Given the description of an element on the screen output the (x, y) to click on. 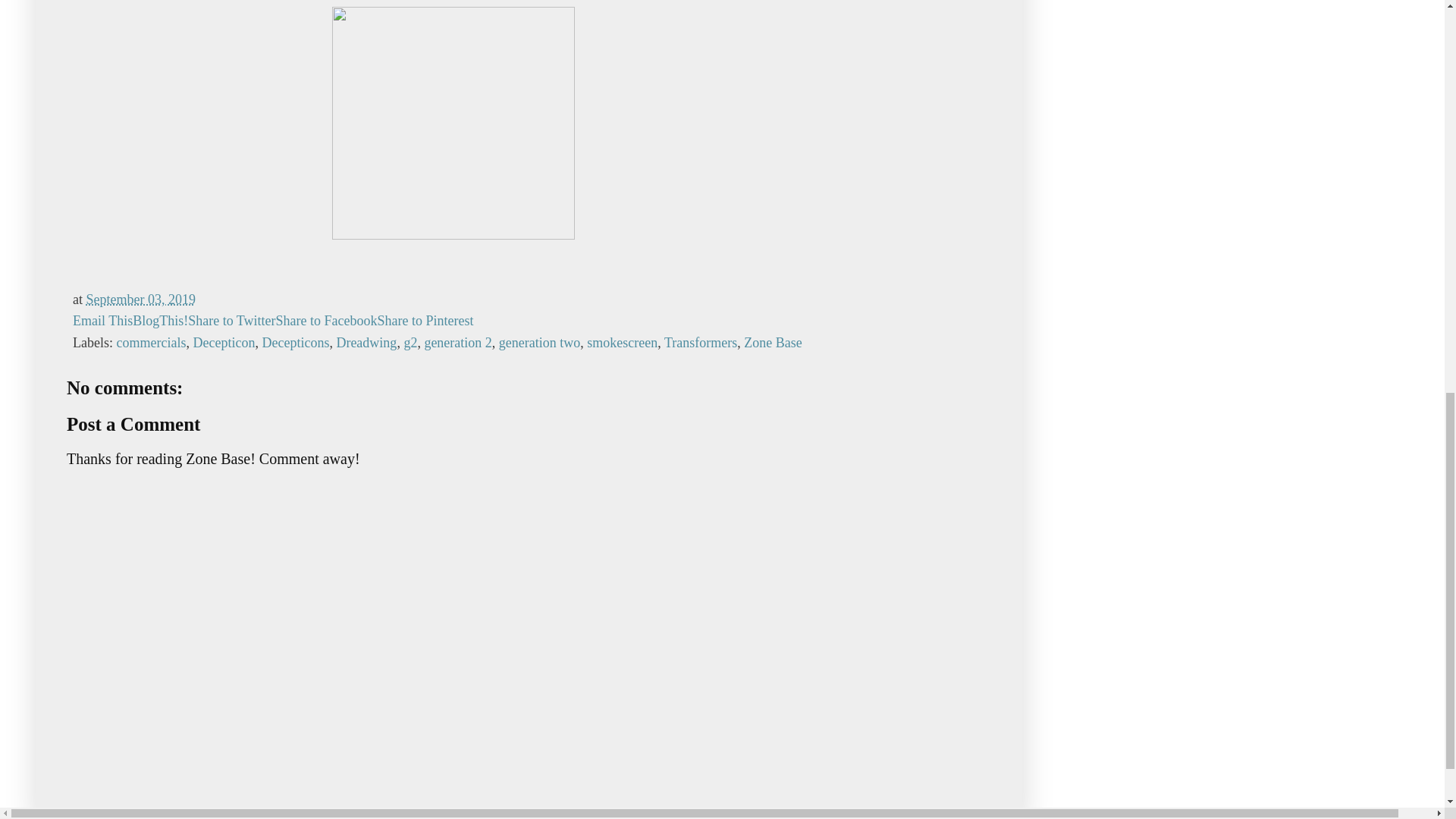
permanent link (140, 299)
BlogThis! (159, 320)
Transformers (699, 342)
Decepticon (223, 342)
Share to Pinterest (425, 320)
commercials (151, 342)
Share to Facebook (326, 320)
Share to Facebook (326, 320)
generation 2 (457, 342)
Decepticons (295, 342)
Zone Base (773, 342)
Email This (102, 320)
BlogThis! (159, 320)
September 03, 2019 (140, 299)
Share to Twitter (231, 320)
